Given the description of an element on the screen output the (x, y) to click on. 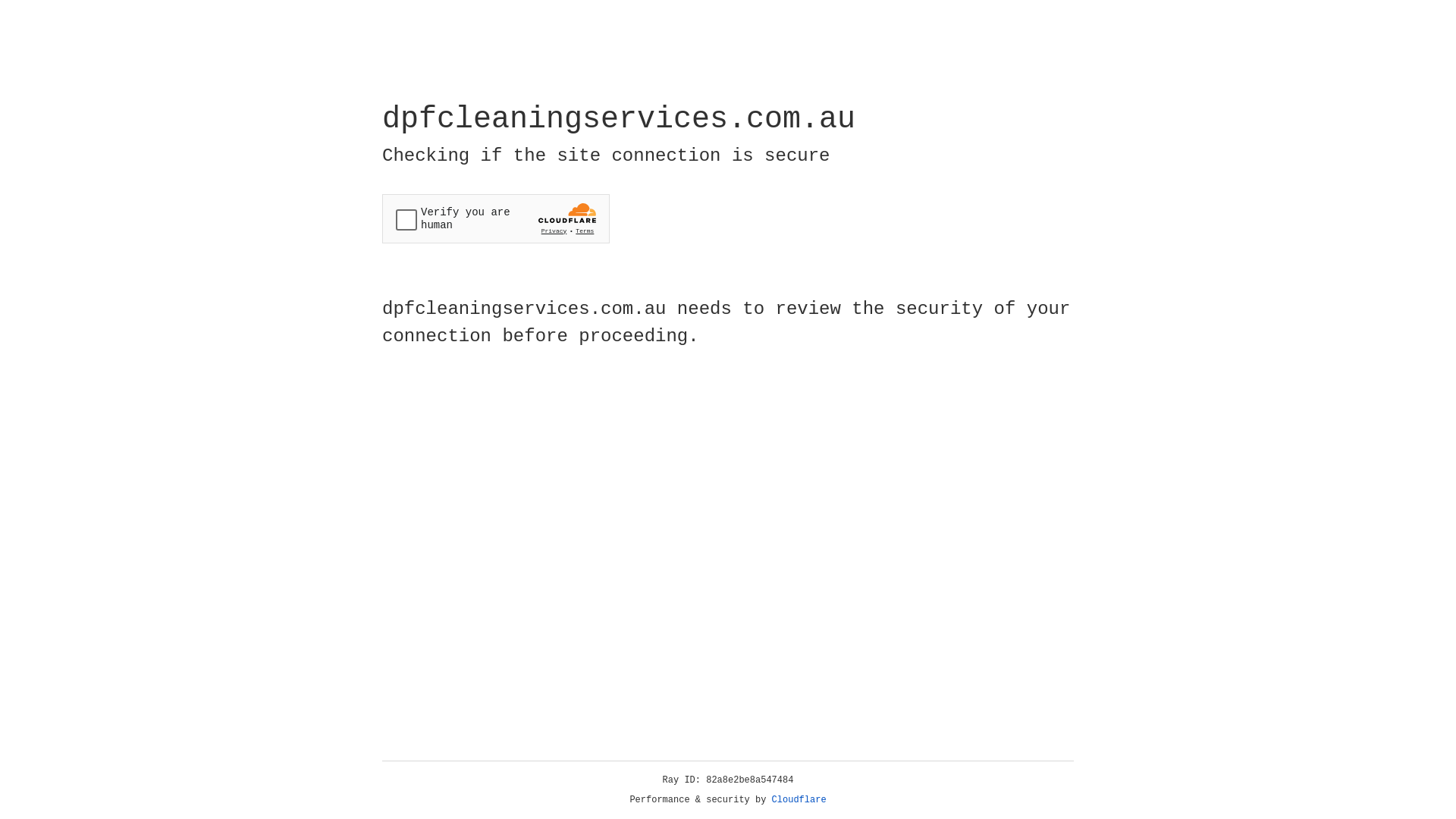
Cloudflare Element type: text (798, 799)
Widget containing a Cloudflare security challenge Element type: hover (495, 218)
